Given the description of an element on the screen output the (x, y) to click on. 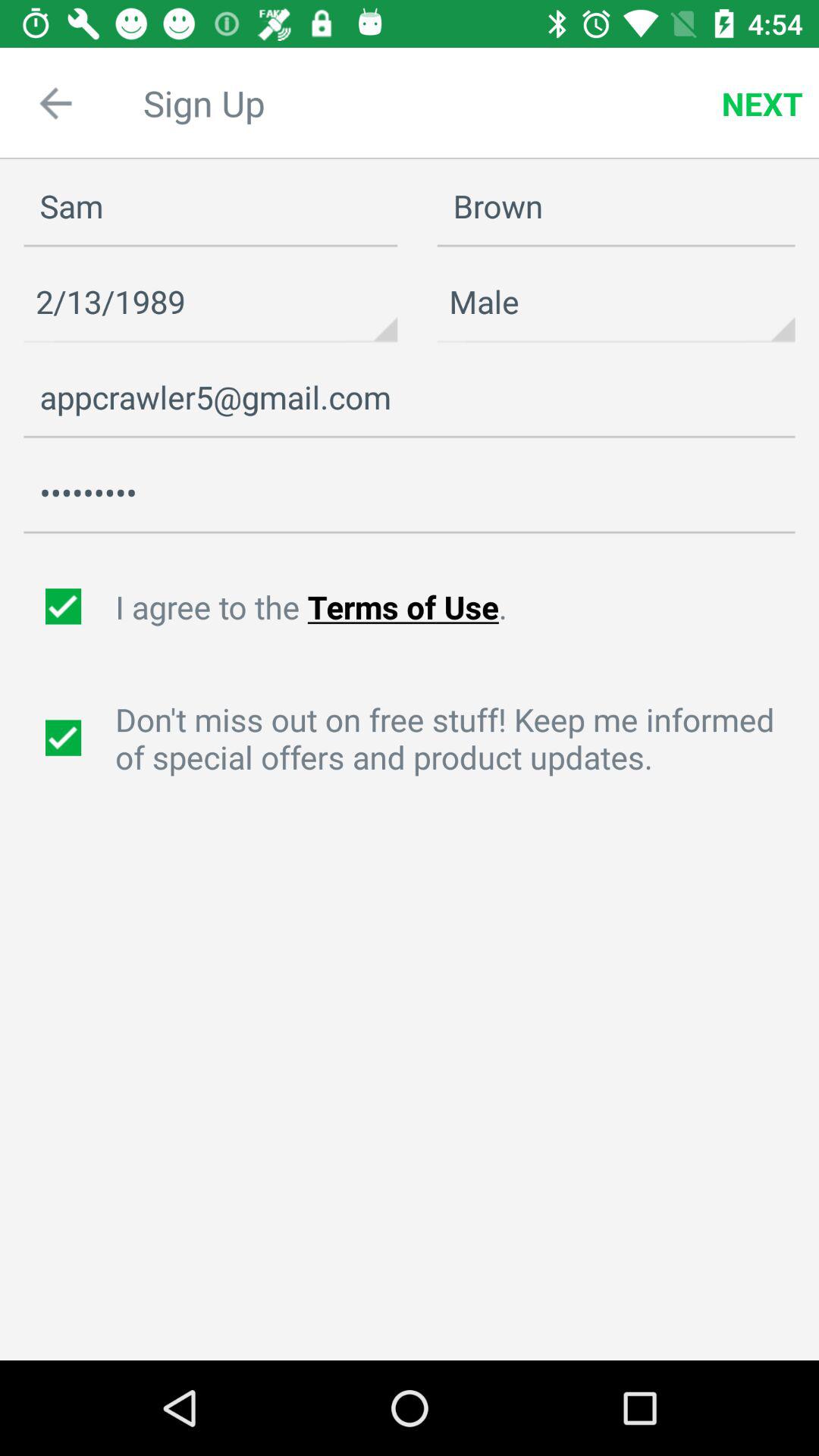
turn on the icon to the left of don t miss item (65, 738)
